Given the description of an element on the screen output the (x, y) to click on. 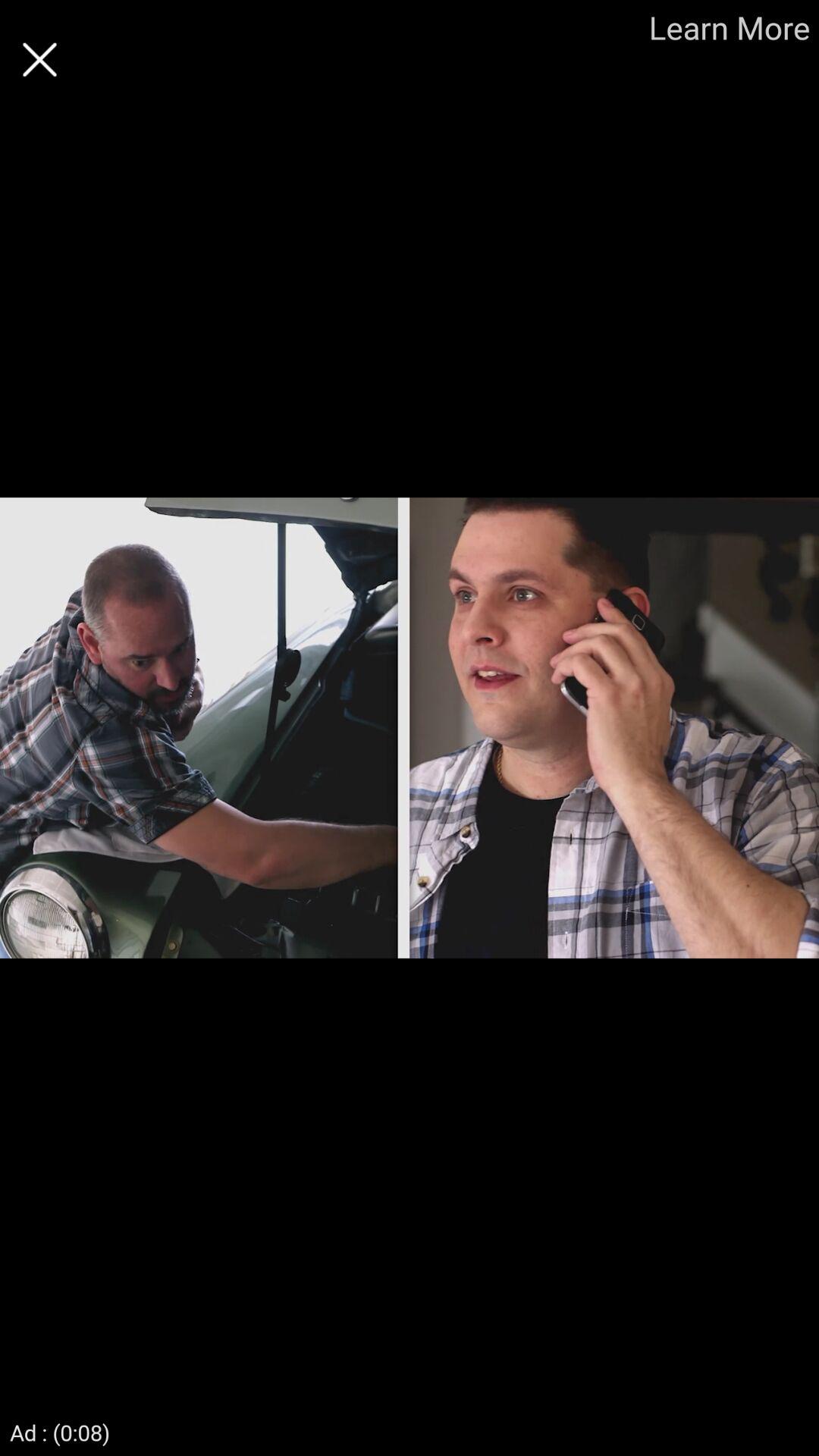
close the page (39, 59)
